Given the description of an element on the screen output the (x, y) to click on. 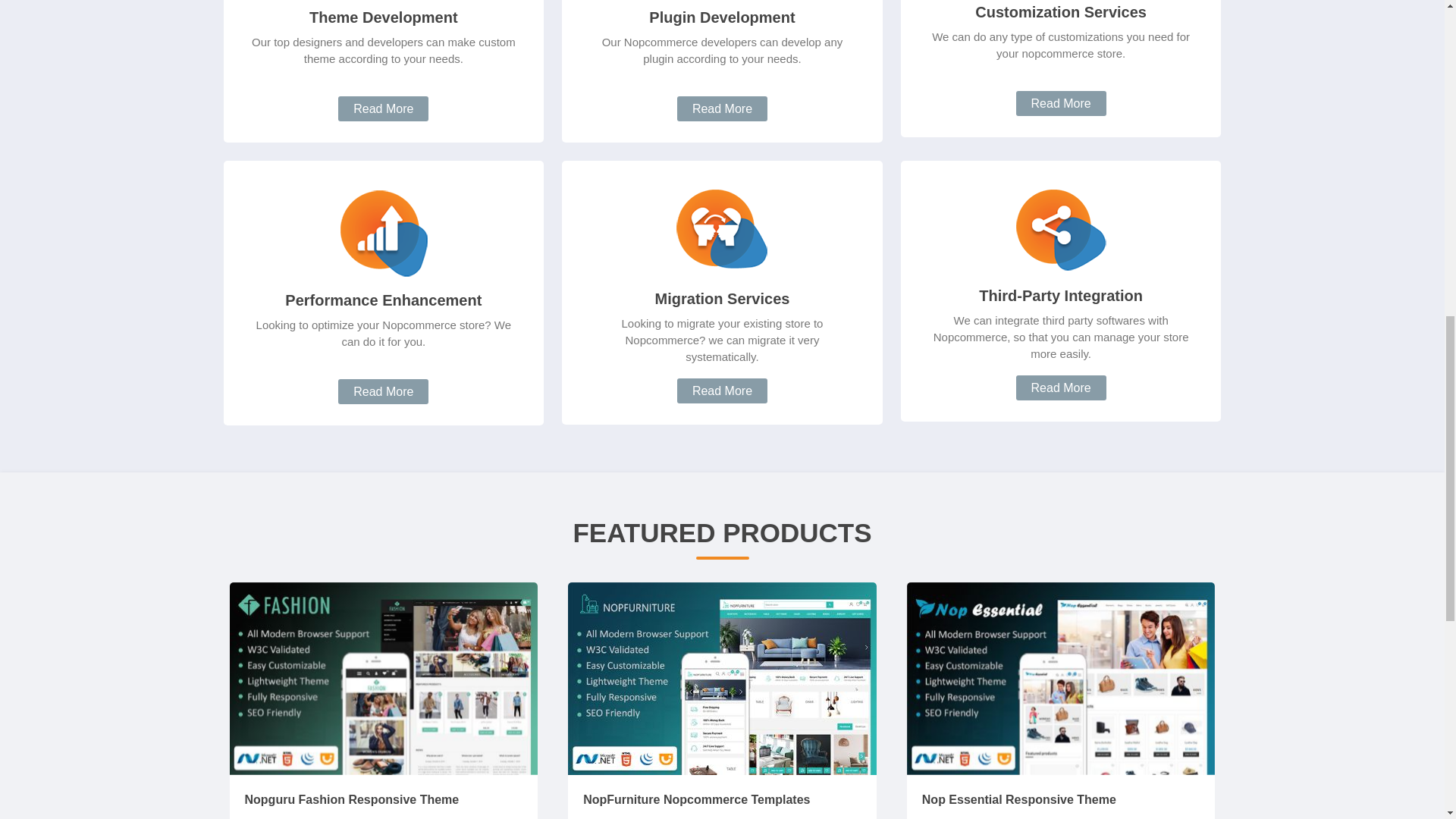
Read More (382, 108)
Theme Development (383, 17)
nopCommerce Nop Essential Responsive Theme (1061, 678)
nopCommerce Nop Essential Responsive Theme (1061, 679)
Read More (722, 108)
Show details for Nopguru Fashion Responsive Theme (382, 678)
Show details for NopFurniture Nopcommerce Templates (721, 679)
Show details for NopFurniture Nopcommerce Templates (721, 678)
Plugin Development (721, 17)
Show details for Nopguru Fashion Responsive Theme (382, 679)
